Given the description of an element on the screen output the (x, y) to click on. 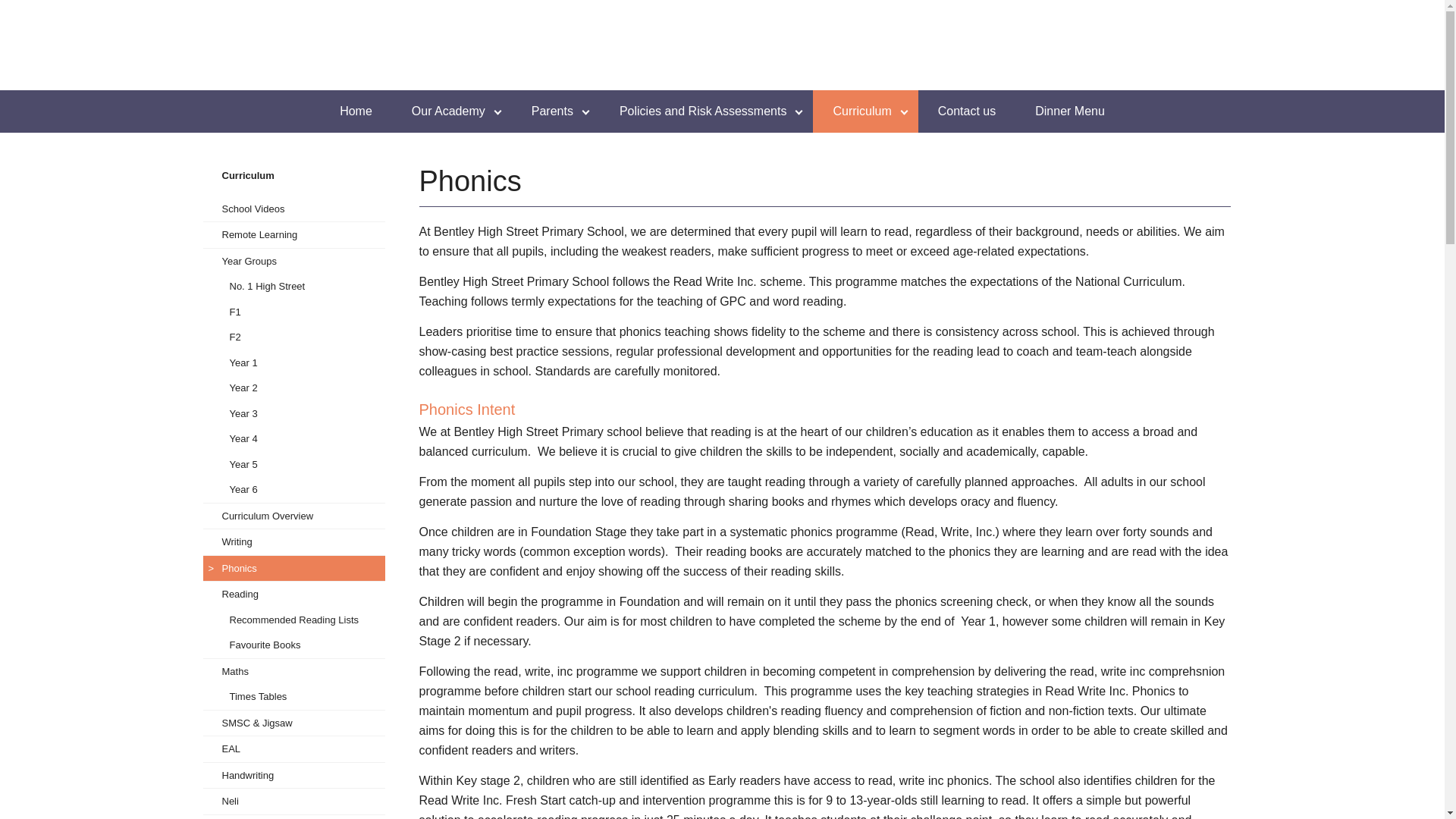
Our Academy (451, 111)
Home (355, 111)
Policies and Risk Assessments (706, 111)
Parents (555, 111)
